Given the description of an element on the screen output the (x, y) to click on. 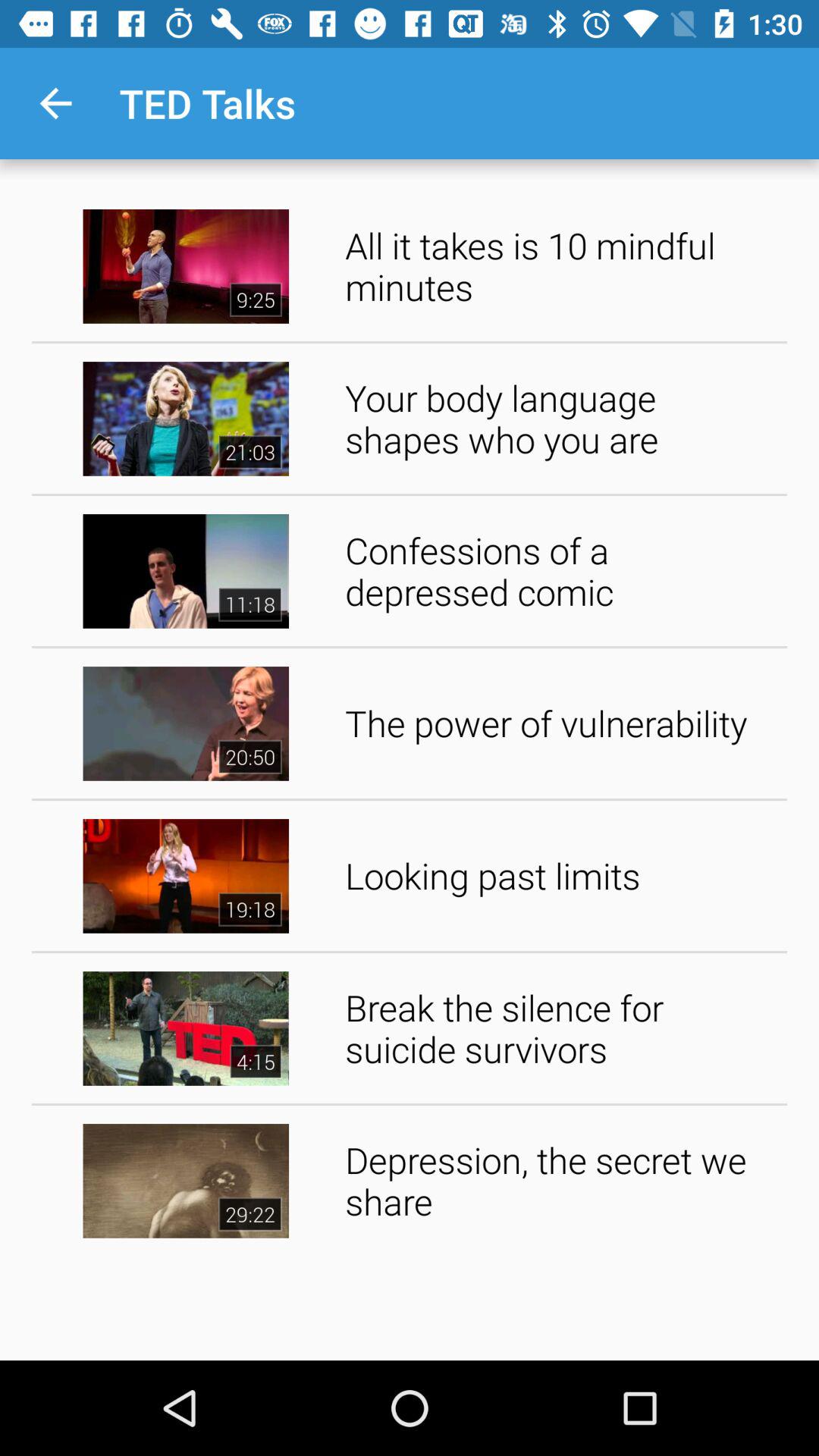
turn on depression the secret app (560, 1180)
